Given the description of an element on the screen output the (x, y) to click on. 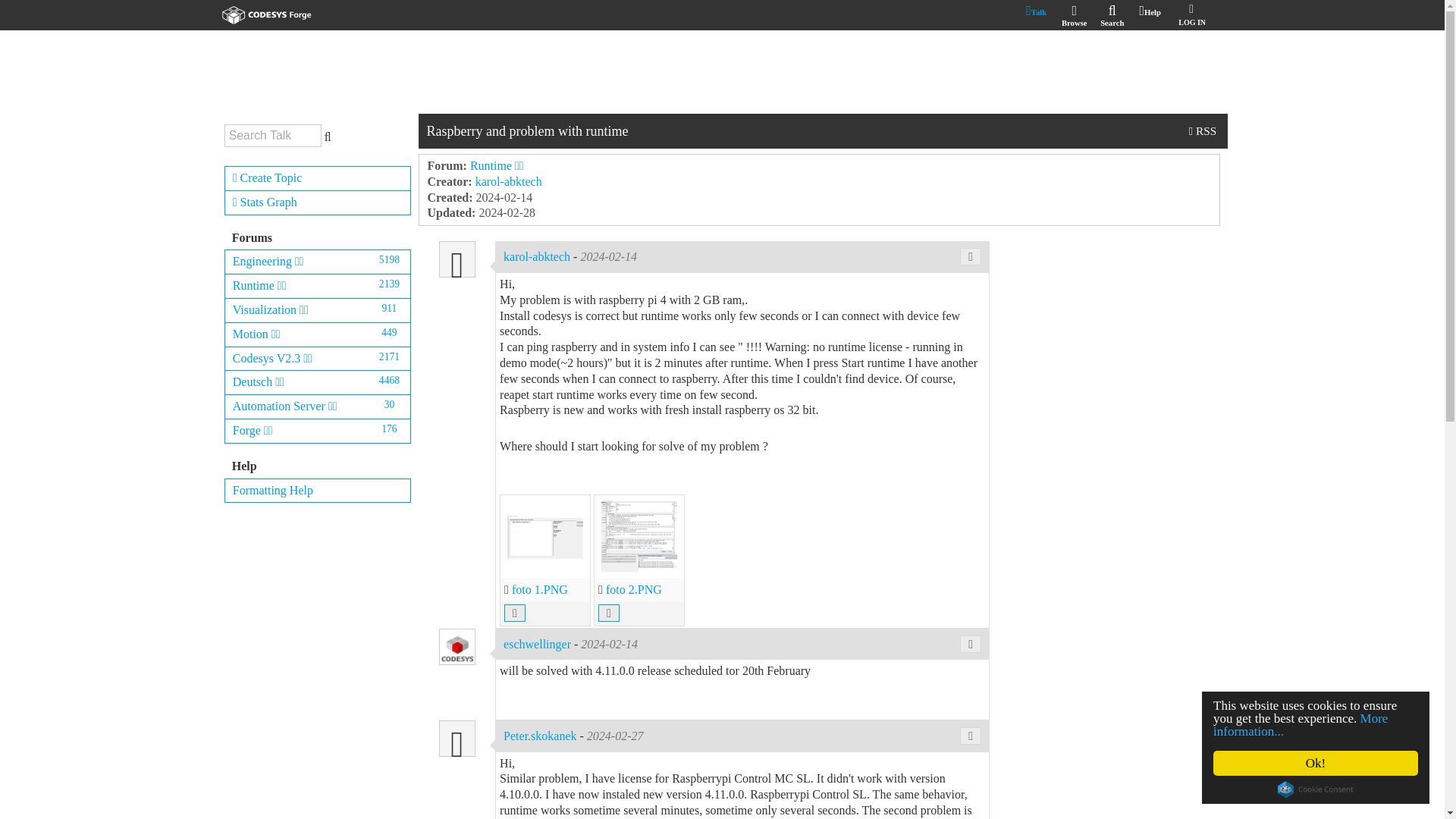
Follow This (1203, 130)
Wed Feb 14, 2024 11:32 AM UTC (504, 196)
User (457, 258)
Shortlink (970, 256)
Ok! (1319, 763)
Cookie Consent plugin for the EU cookie law (1317, 789)
Peter.skokanek (541, 735)
Shortlink (970, 735)
foto 2.PNG (633, 589)
Create Topic (317, 178)
User (457, 738)
Download File (514, 612)
Add (317, 178)
Search (1112, 17)
foto 1.PNG (539, 589)
